Given the description of an element on the screen output the (x, y) to click on. 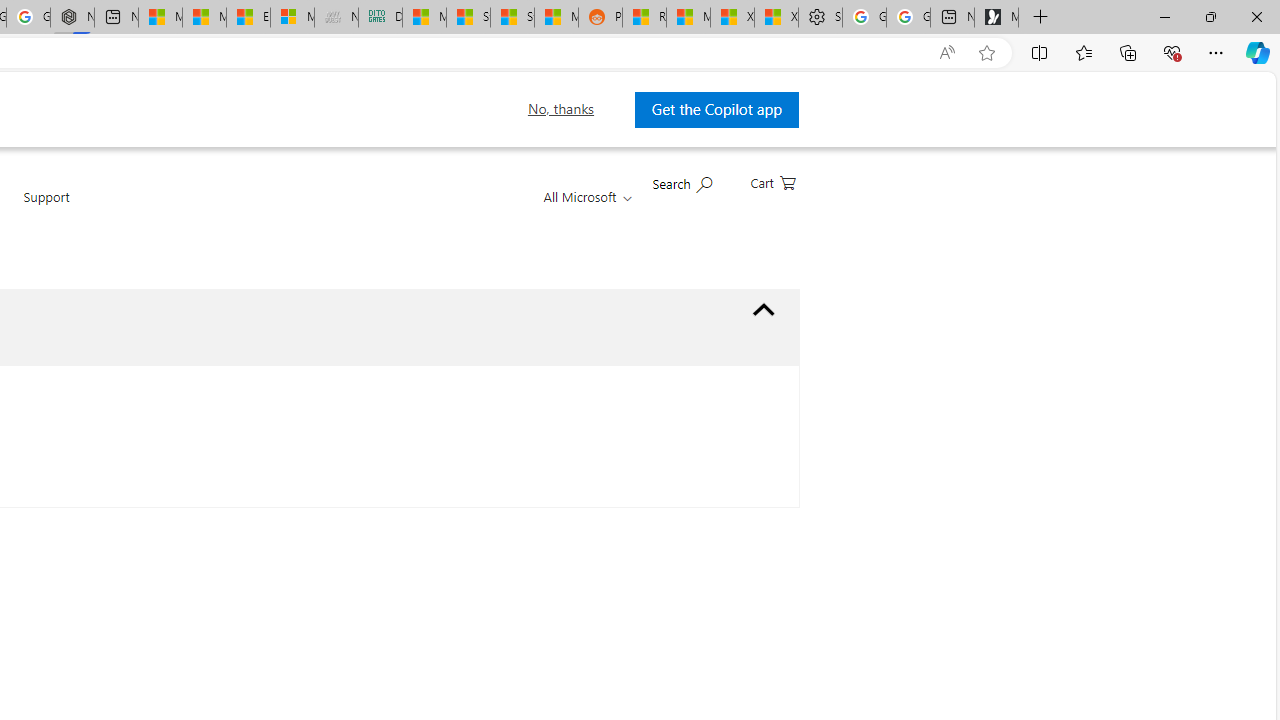
No, thanks (561, 109)
